Given the description of an element on the screen output the (x, y) to click on. 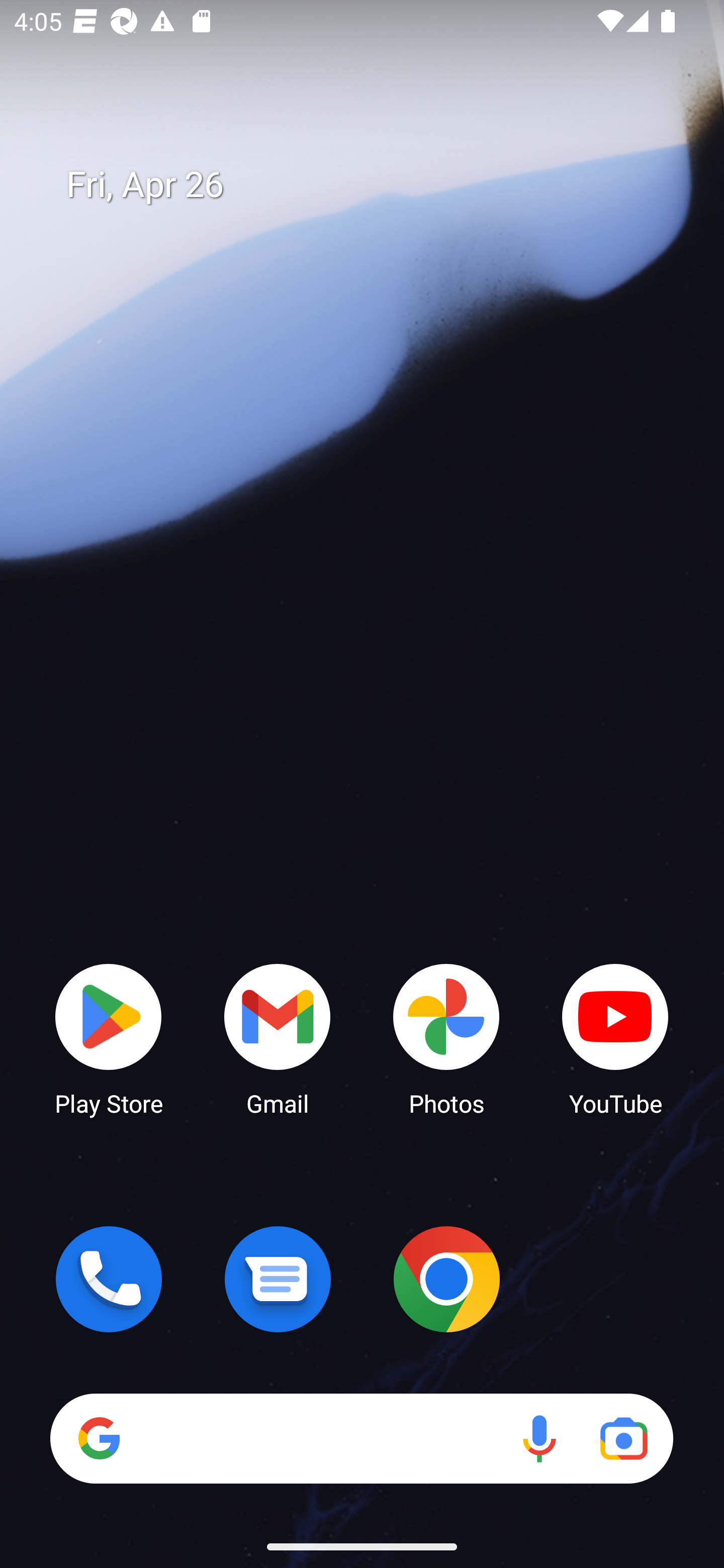
Fri, Apr 26 (375, 184)
Play Store (108, 1038)
Gmail (277, 1038)
Photos (445, 1038)
YouTube (615, 1038)
Phone (108, 1279)
Messages (277, 1279)
Chrome (446, 1279)
Search Voice search Google Lens (361, 1438)
Voice search (539, 1438)
Google Lens (623, 1438)
